Given the description of an element on the screen output the (x, y) to click on. 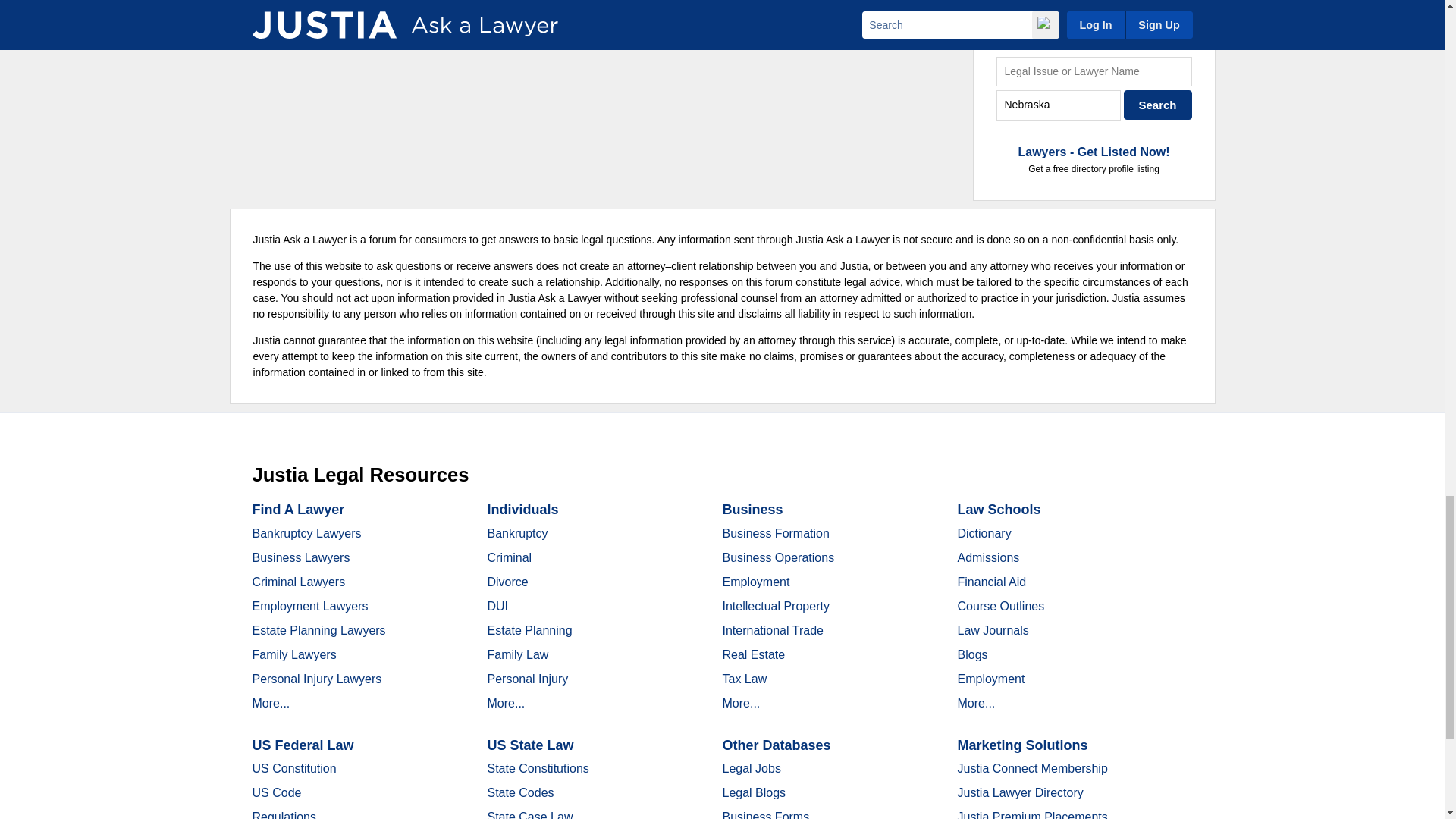
Nebraska (1058, 104)
Legal Issue or Lawyer Name (1093, 71)
Search (1158, 104)
City, State (1058, 104)
Search (1158, 104)
